Given the description of an element on the screen output the (x, y) to click on. 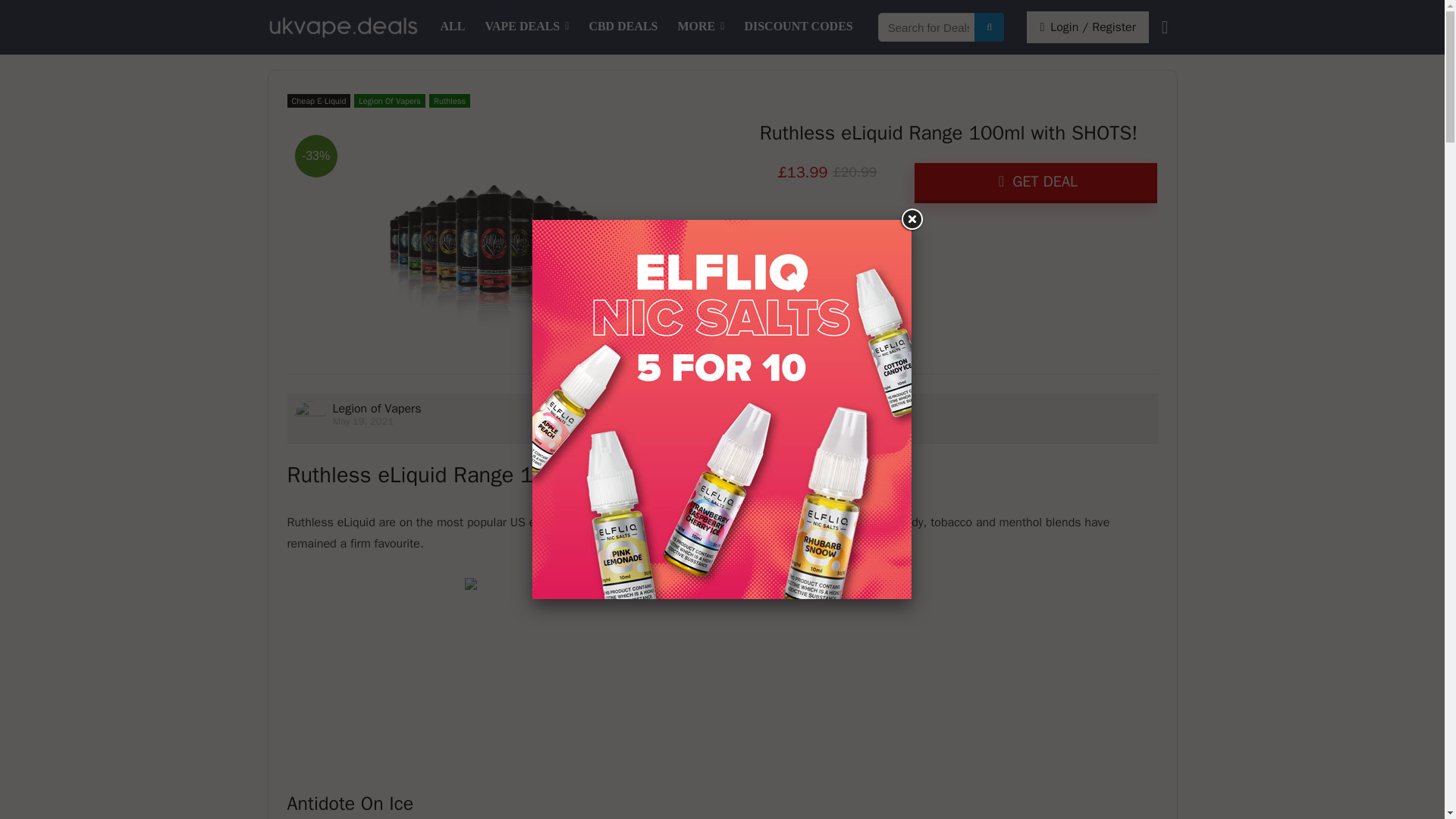
View all posts in Legion Of Vapers (389, 100)
Legion of Vapers (375, 408)
View all posts in Cheap E-Liquid (318, 100)
Legion Of Vapers (389, 100)
MORE (701, 27)
GET DEAL (1035, 182)
Cheap E-Liquid (318, 100)
UK Vape Deals  (453, 27)
ALL (453, 27)
CBD Deals UK (622, 27)
